Given the description of an element on the screen output the (x, y) to click on. 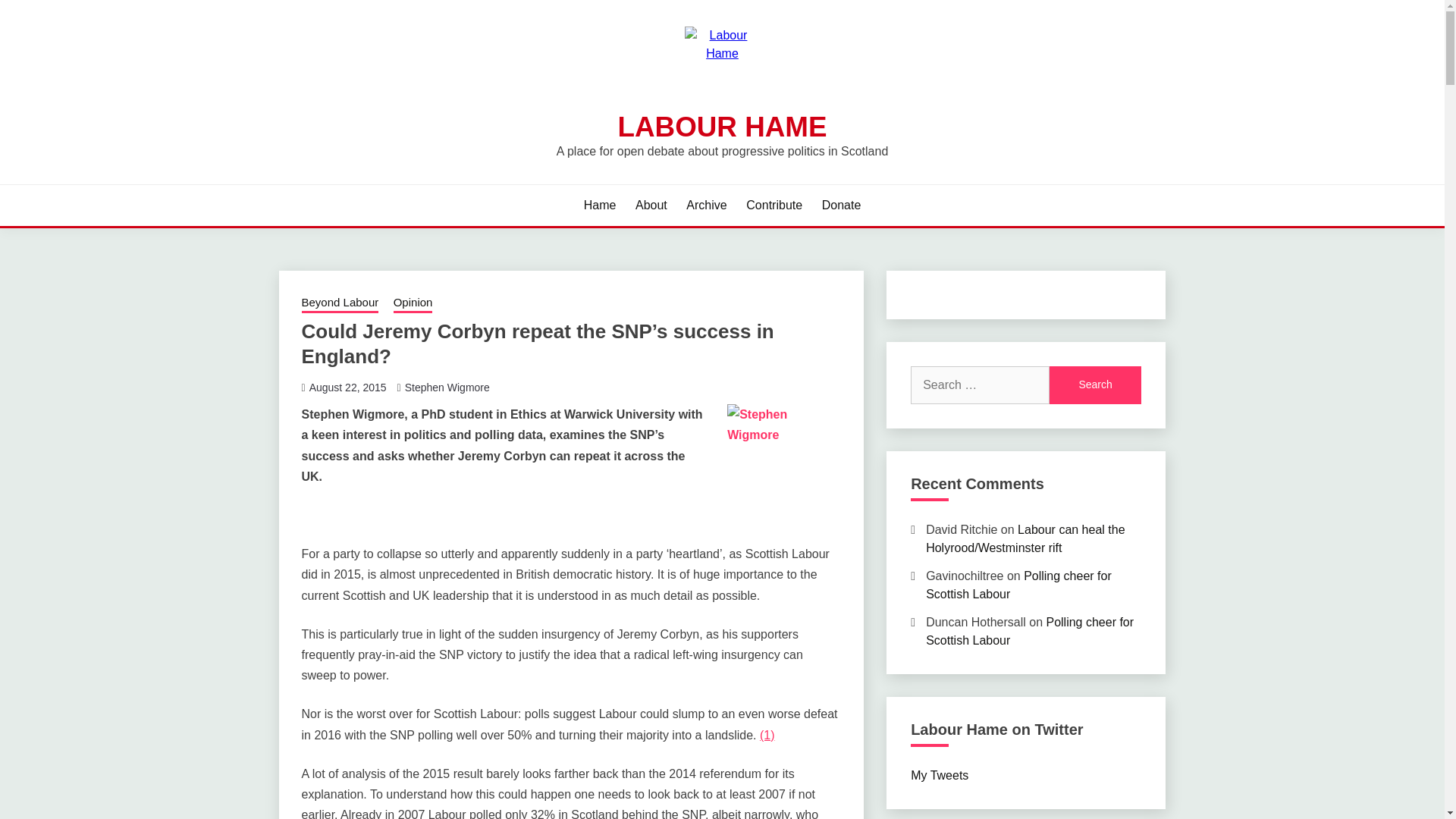
Beyond Labour (339, 303)
Archive (705, 205)
August 22, 2015 (347, 387)
Donate (841, 205)
Opinion (412, 303)
Search (1095, 385)
Stephen Wigmore (446, 387)
LABOUR HAME (722, 126)
Search (1095, 385)
Contribute (773, 205)
About (650, 205)
Hame (599, 205)
